Given the description of an element on the screen output the (x, y) to click on. 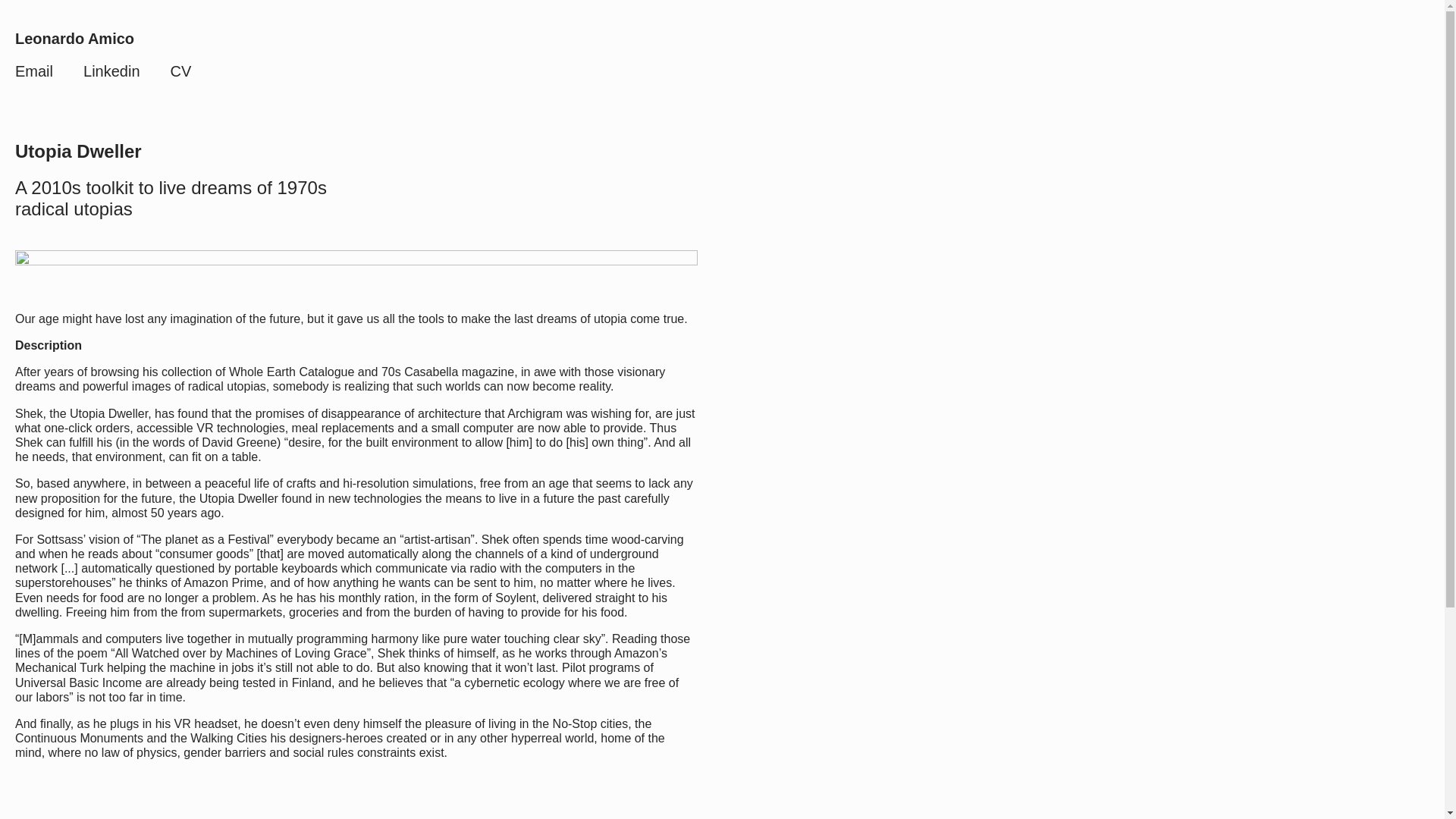
Email (33, 71)
Linkedin (110, 71)
Leonardo Amico (73, 38)
CV (181, 71)
